Given the description of an element on the screen output the (x, y) to click on. 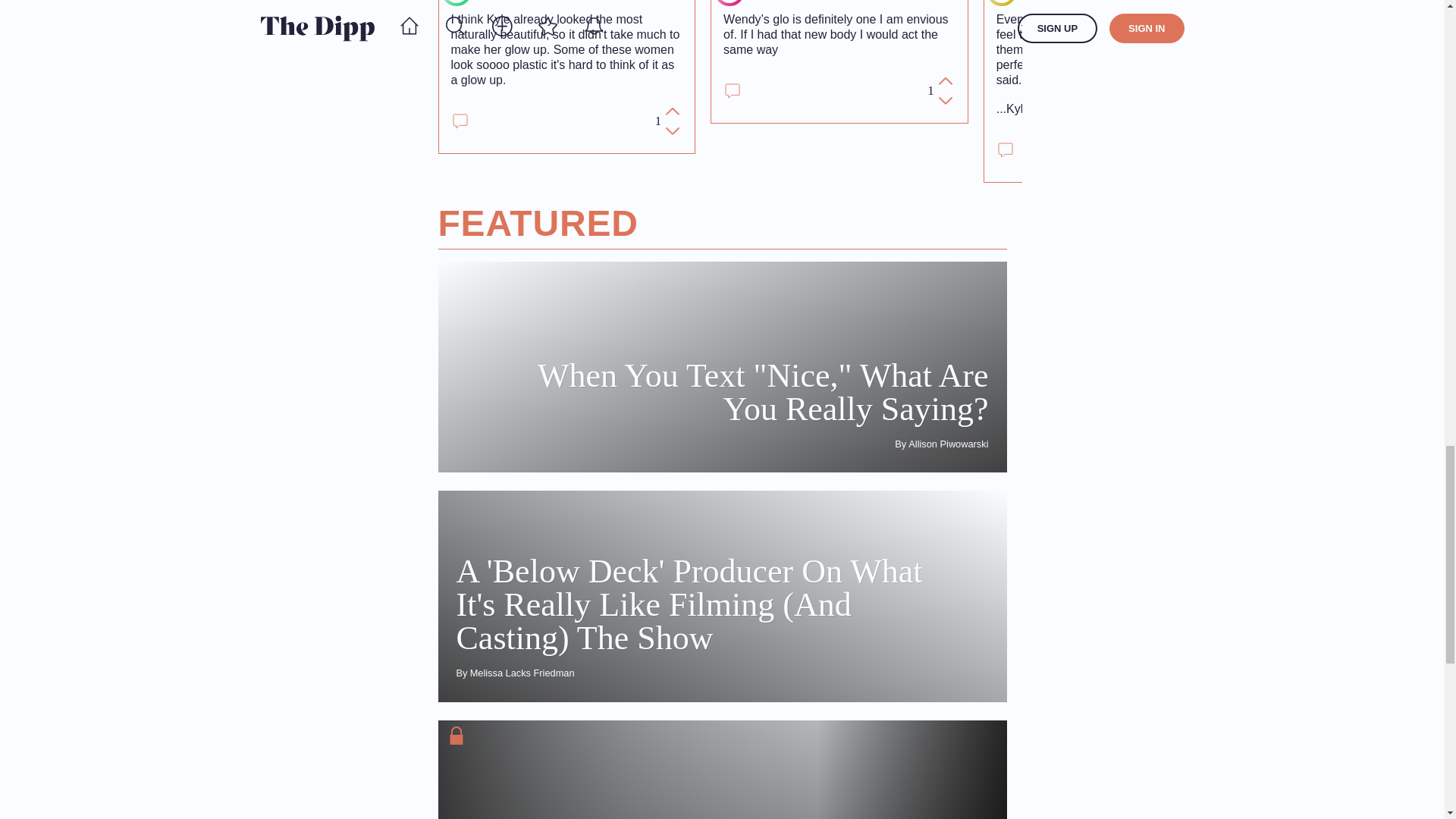
M (1001, 2)
I (456, 2)
B (729, 2)
